Given the description of an element on the screen output the (x, y) to click on. 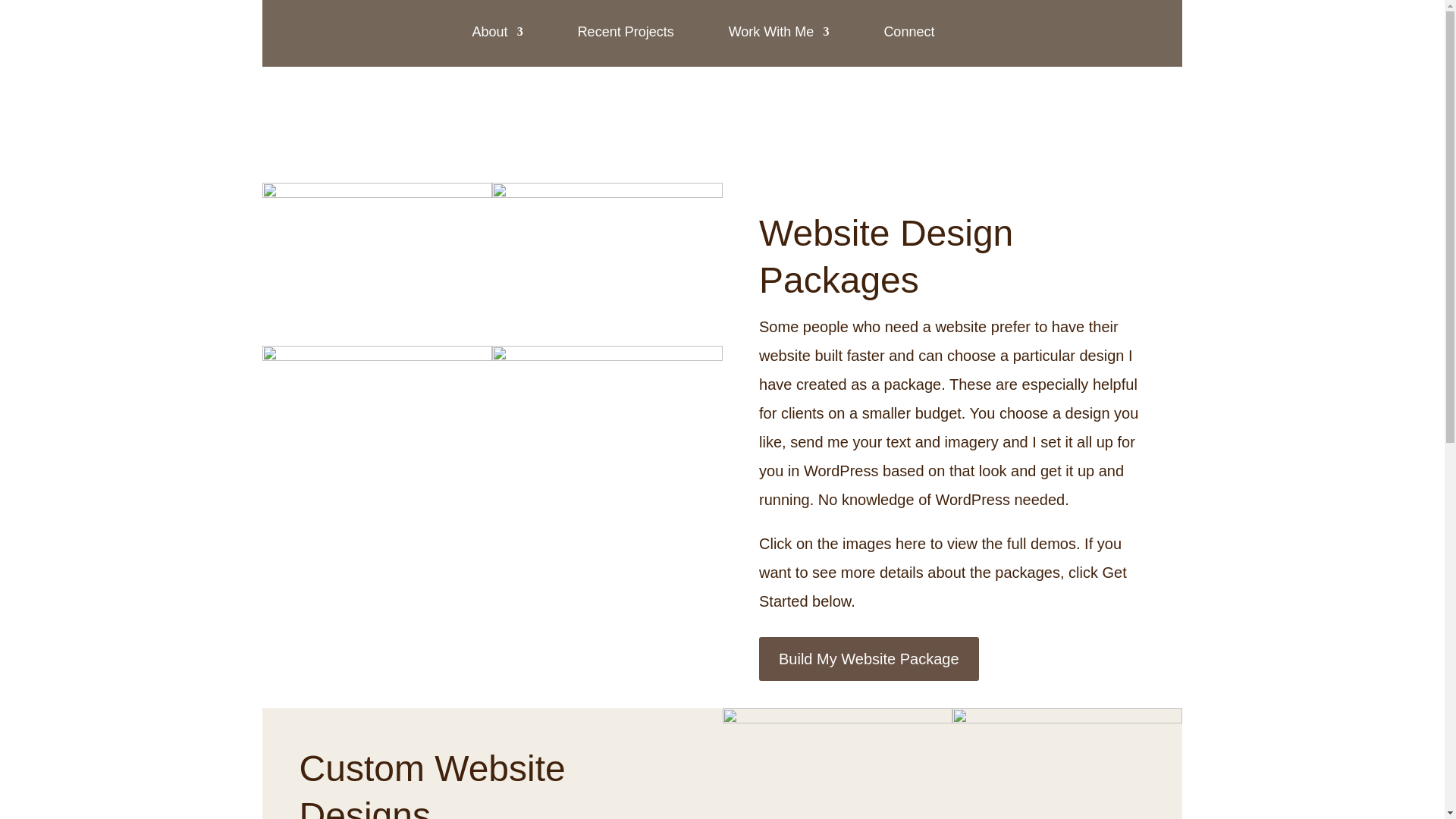
Work With Me (779, 31)
Recent Projects (626, 31)
Build My Website Package (868, 658)
